Given the description of an element on the screen output the (x, y) to click on. 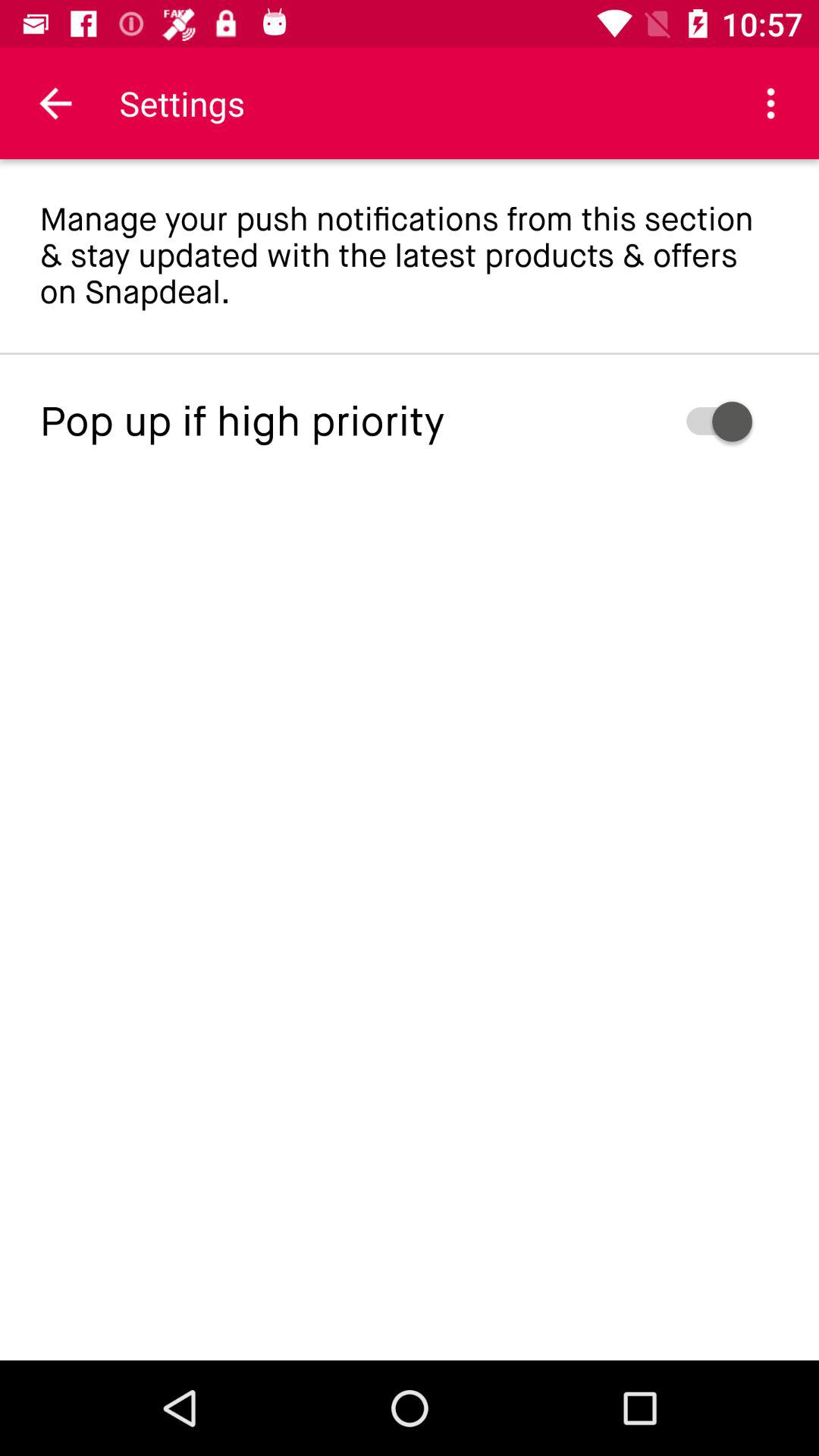
go back (55, 103)
